Given the description of an element on the screen output the (x, y) to click on. 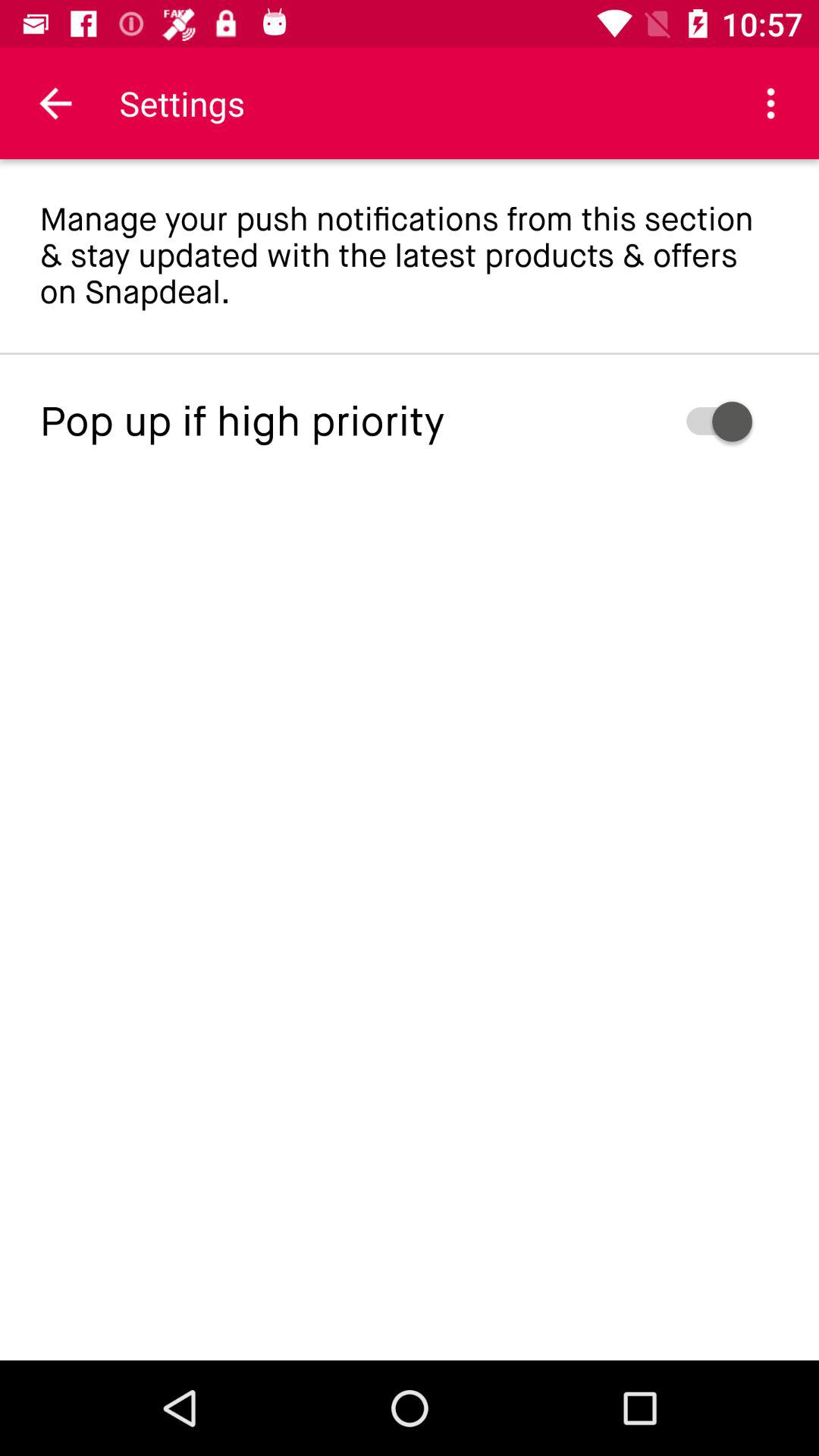
go back (55, 103)
